Given the description of an element on the screen output the (x, y) to click on. 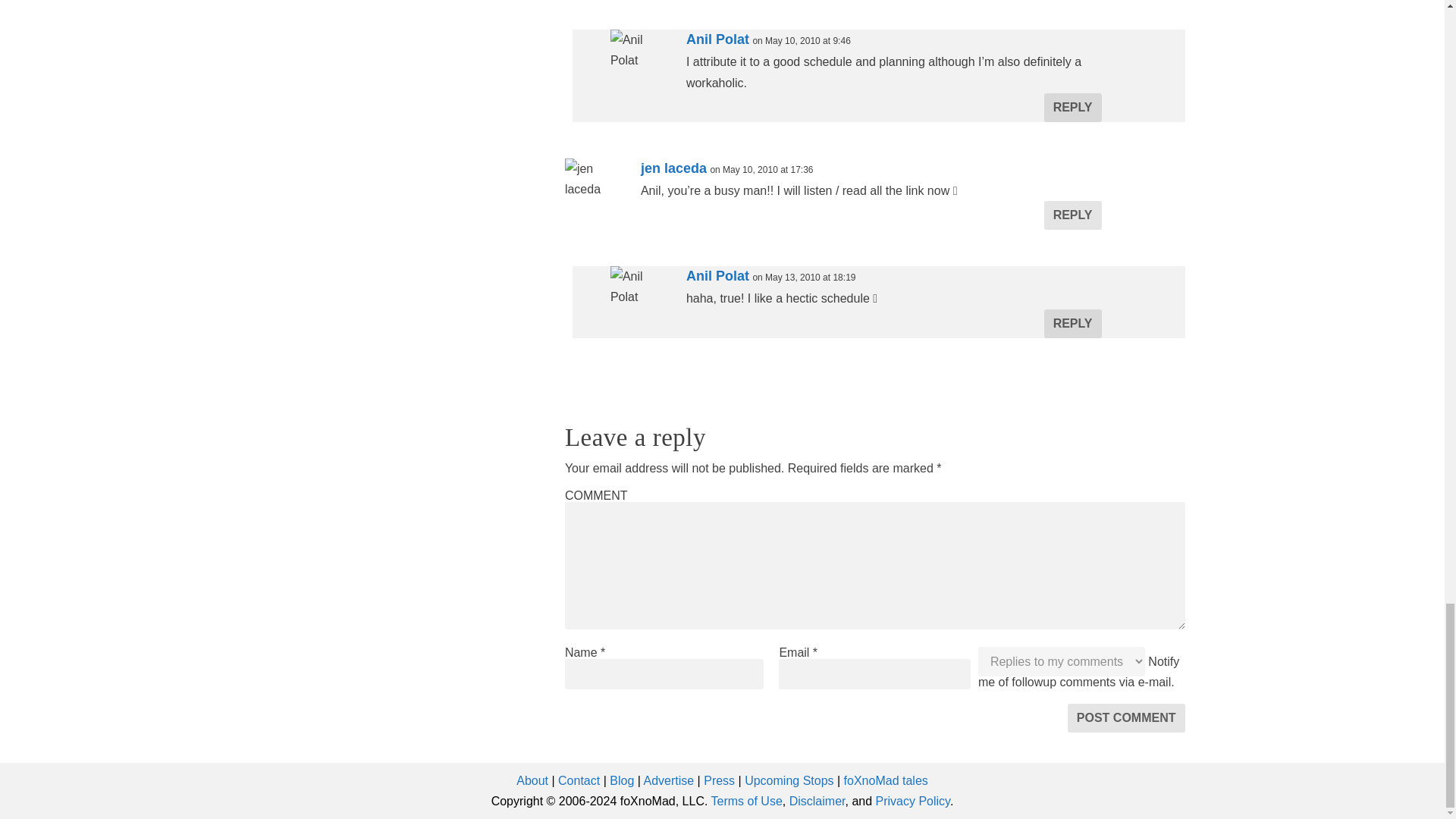
Post Comment (1126, 717)
